Given the description of an element on the screen output the (x, y) to click on. 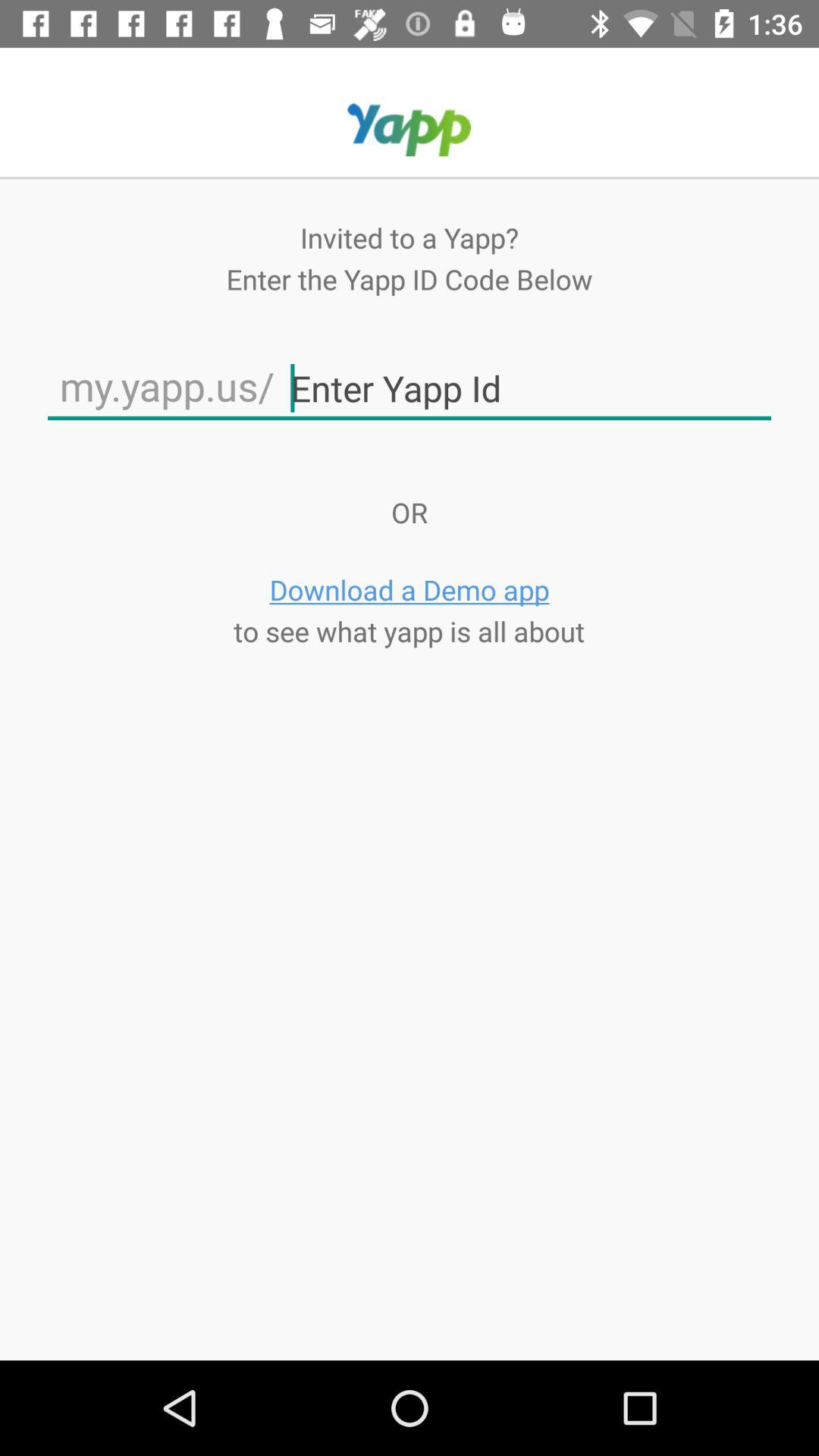
scroll to the download a demo (409, 589)
